Given the description of an element on the screen output the (x, y) to click on. 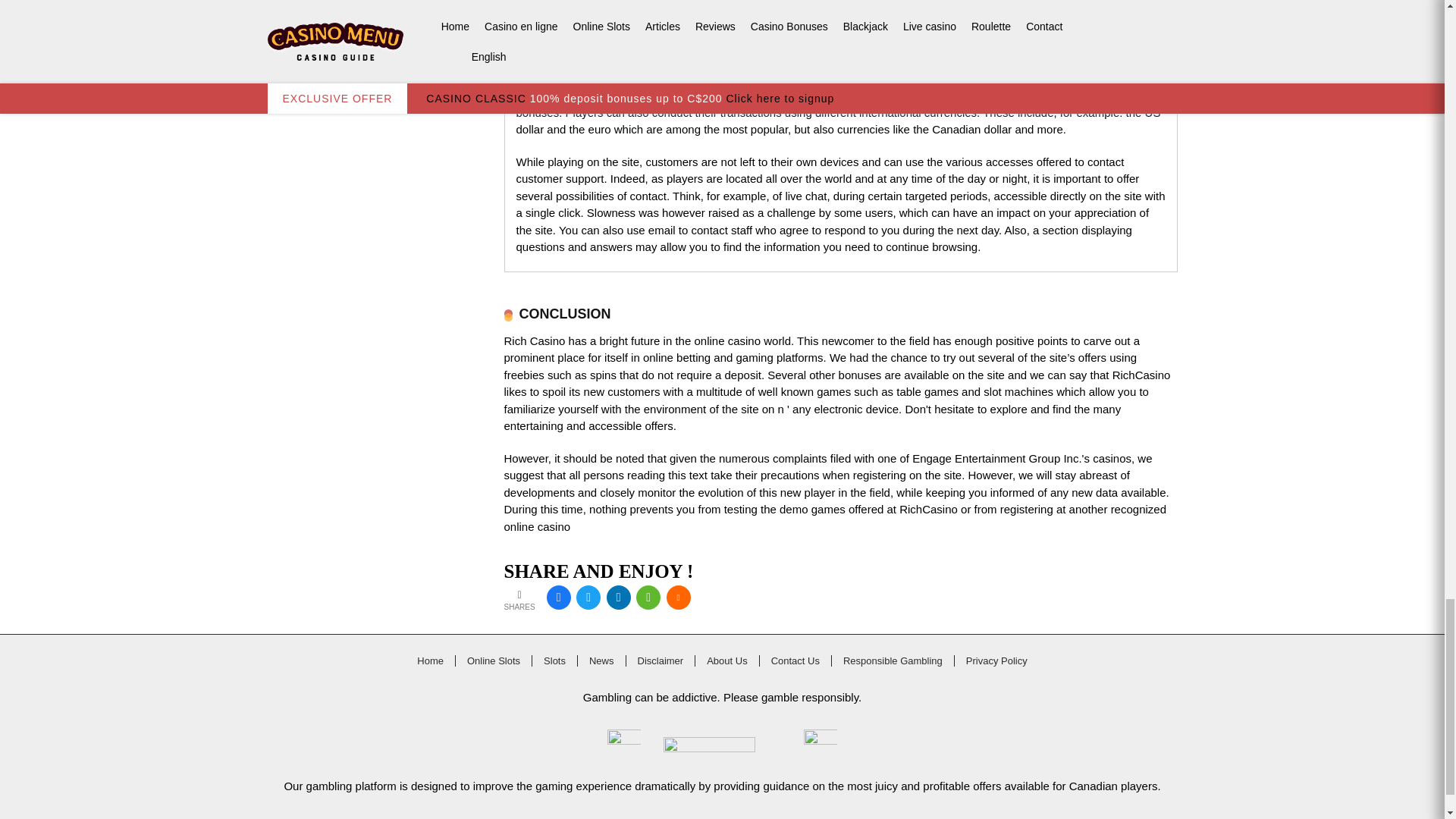
Tweet this ! (587, 597)
WhatsApp (648, 597)
More share links (678, 597)
Add this to LinkedIn (618, 597)
Share this on Facebook (558, 597)
